Given the description of an element on the screen output the (x, y) to click on. 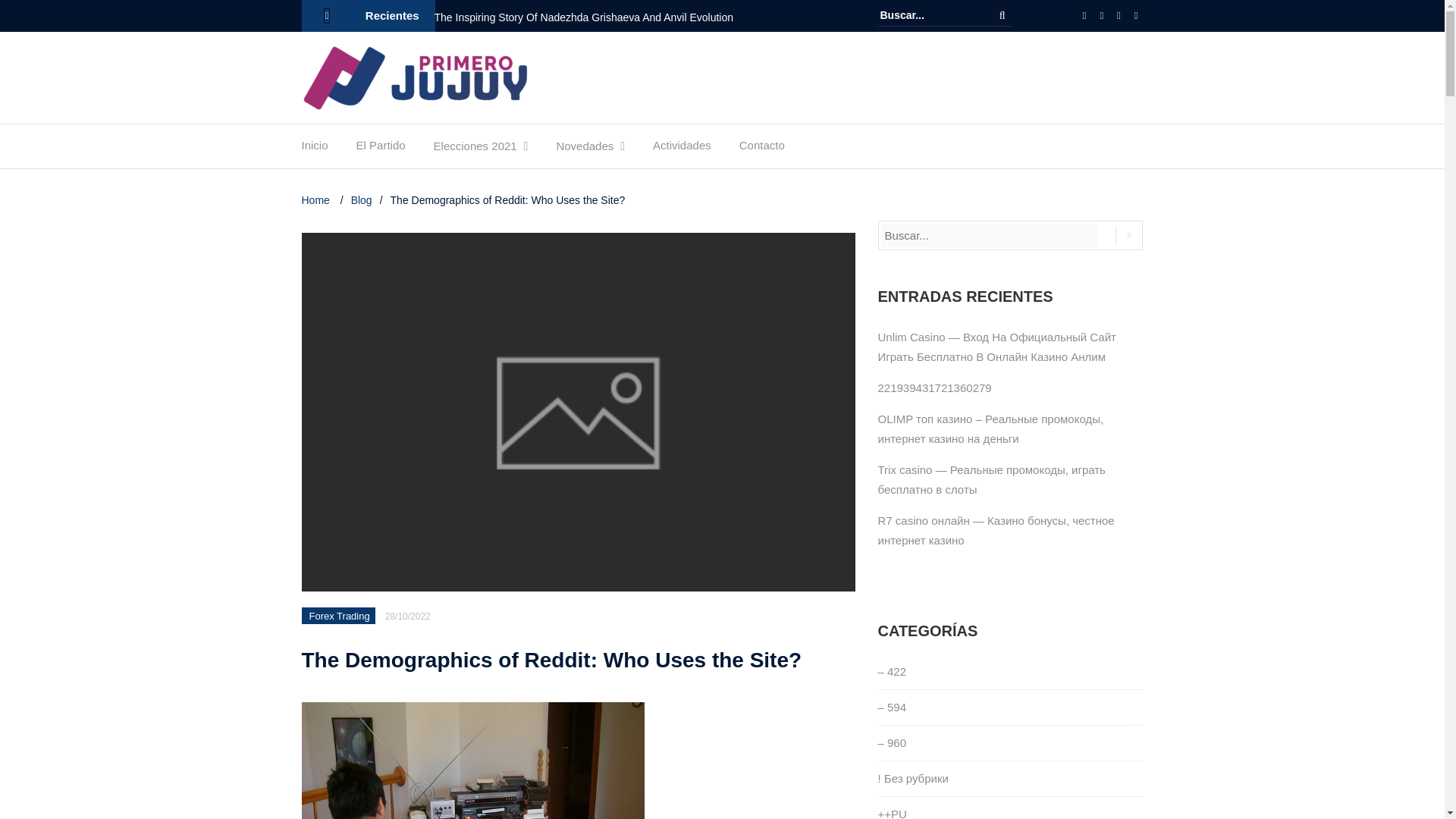
Elecciones 2021 (474, 149)
El Partido (381, 148)
Novedades (584, 149)
Inicio (315, 148)
Buscar   (1002, 14)
